Given the description of an element on the screen output the (x, y) to click on. 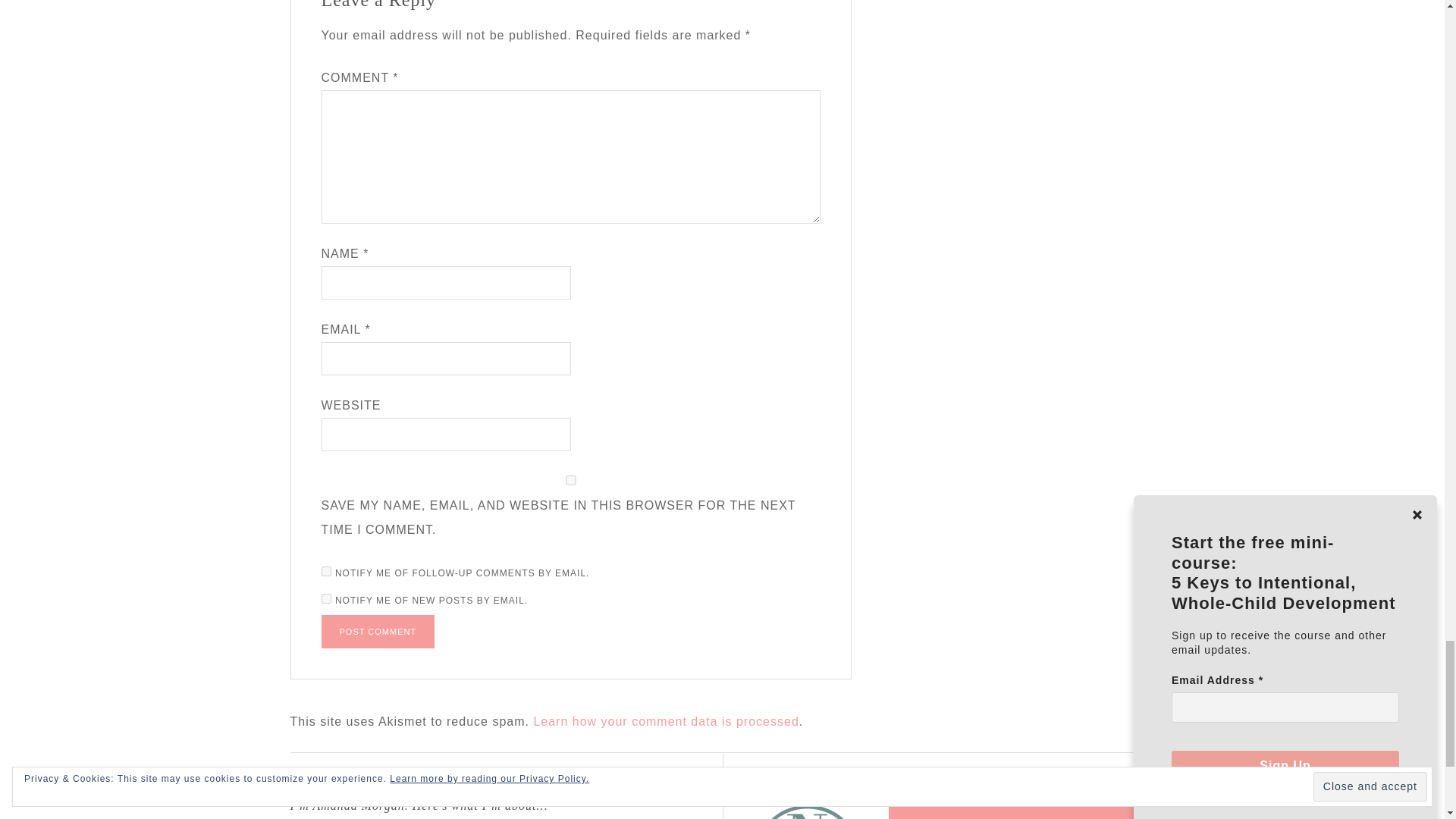
subscribe (326, 571)
Post Comment (378, 631)
Learn how your comment data is processed (664, 721)
yes (571, 480)
Post Comment (378, 631)
subscribe (326, 598)
